Given the description of an element on the screen output the (x, y) to click on. 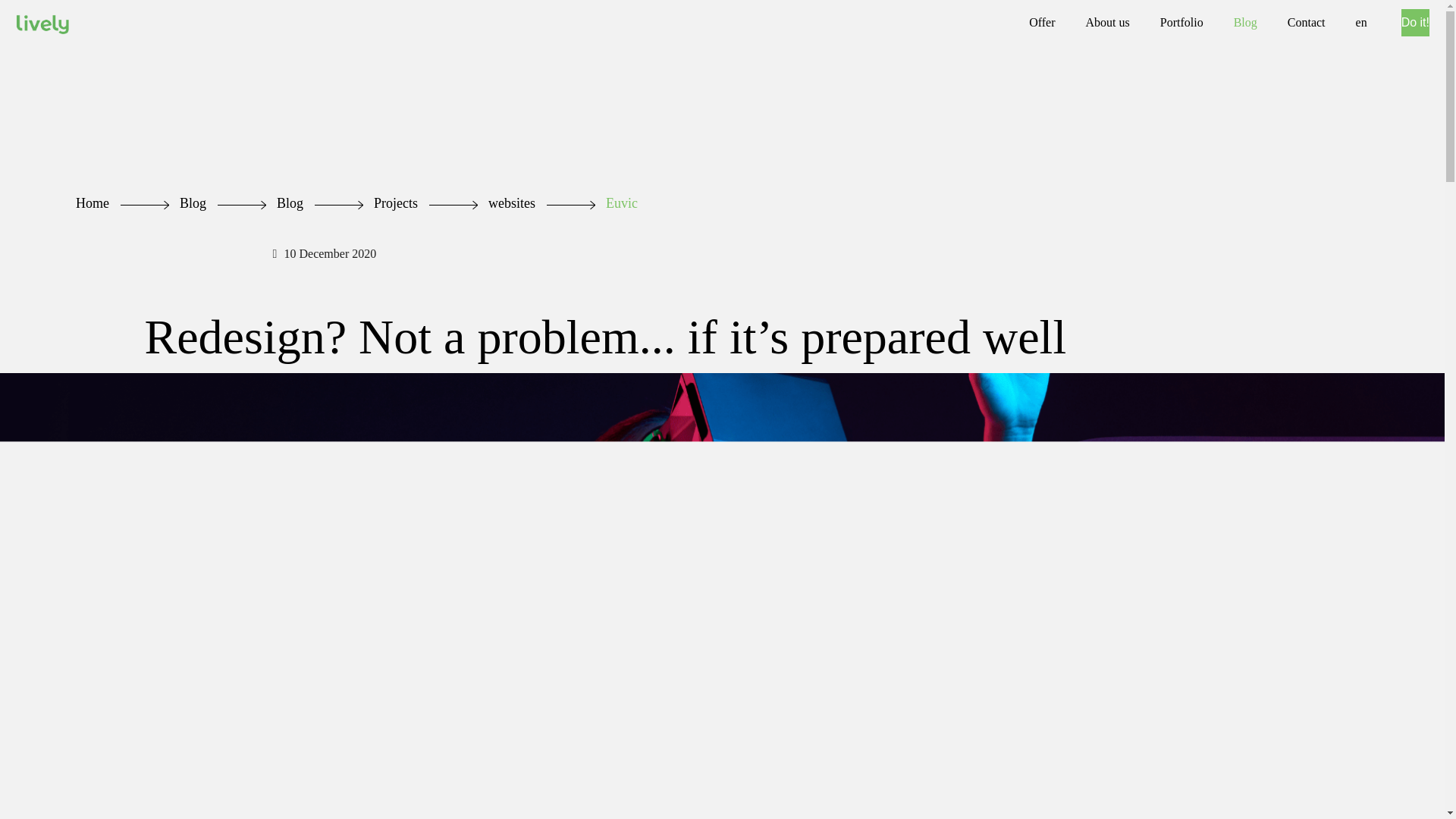
Portfolio (1181, 22)
websites (511, 202)
Blog (1245, 22)
Do it! (1414, 22)
About us (1107, 22)
Blog (192, 202)
Offer (1041, 22)
en (1360, 22)
en (1360, 22)
Contact (1306, 22)
Blog (289, 202)
Home (92, 202)
Projects (395, 202)
